Given the description of an element on the screen output the (x, y) to click on. 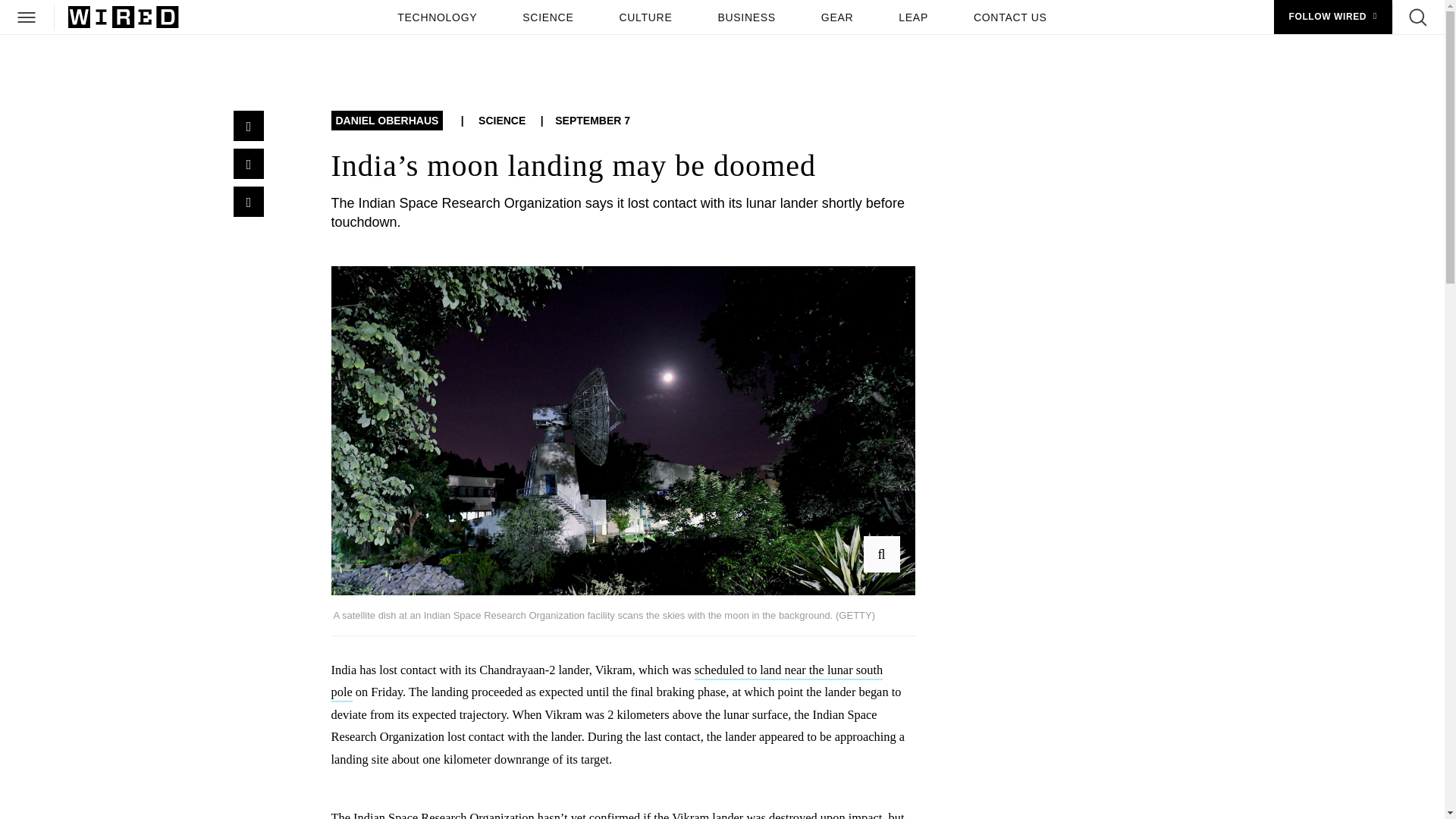
SCIENCE (547, 17)
CONTACT US (1010, 17)
Posts by Daniel Oberhaus (386, 120)
LEAP (913, 17)
DANIEL OBERHAUS (386, 120)
TECHNOLOGY (437, 17)
BUSINESS (746, 17)
GEAR (836, 17)
scheduled to land near the lunar south pole (606, 682)
CULTURE (645, 17)
